Given the description of an element on the screen output the (x, y) to click on. 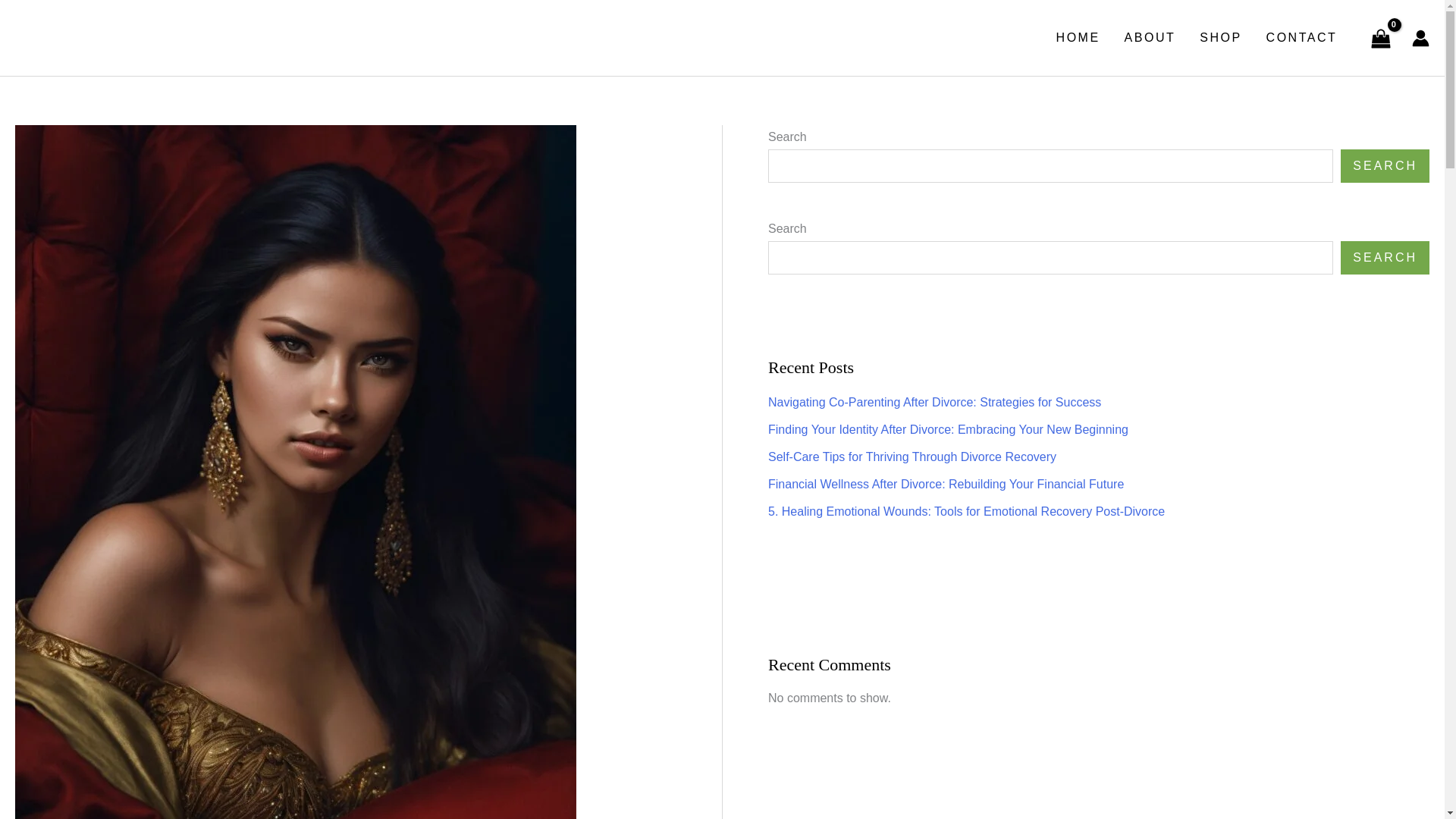
SEARCH (1384, 257)
CONTACT (1301, 38)
SEARCH (1384, 165)
ABOUT (1150, 38)
HOME (1077, 38)
Self-Care Tips for Thriving Through Divorce Recovery (912, 456)
